Given the description of an element on the screen output the (x, y) to click on. 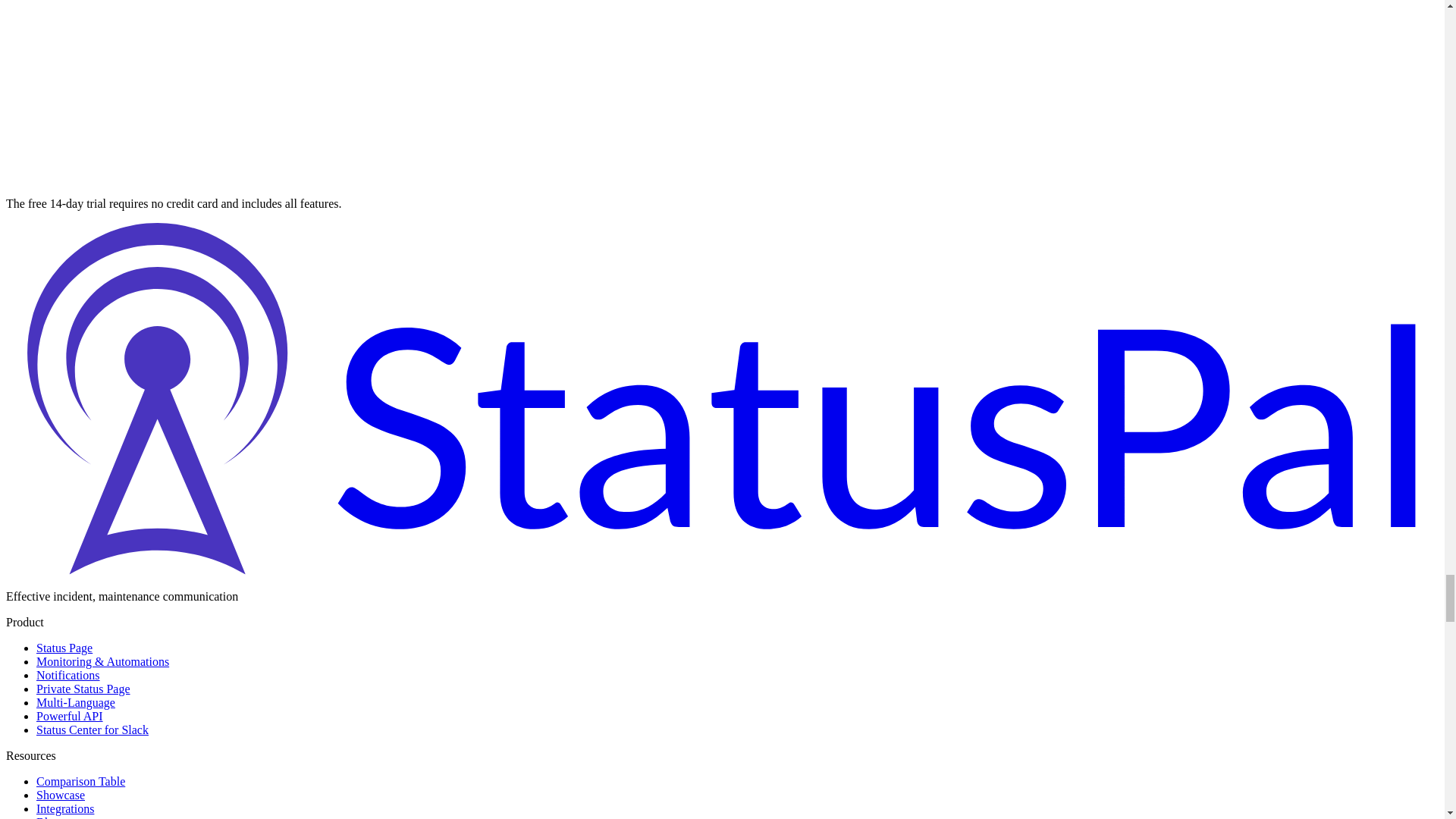
Powerful API (69, 716)
Comparison Table (80, 780)
Status Page (64, 647)
Multi-Language (75, 702)
Private Status Page (83, 688)
Integrations (65, 808)
Status Center for Slack (92, 729)
Blog (47, 817)
Showcase (60, 794)
Notifications (68, 675)
